Given the description of an element on the screen output the (x, y) to click on. 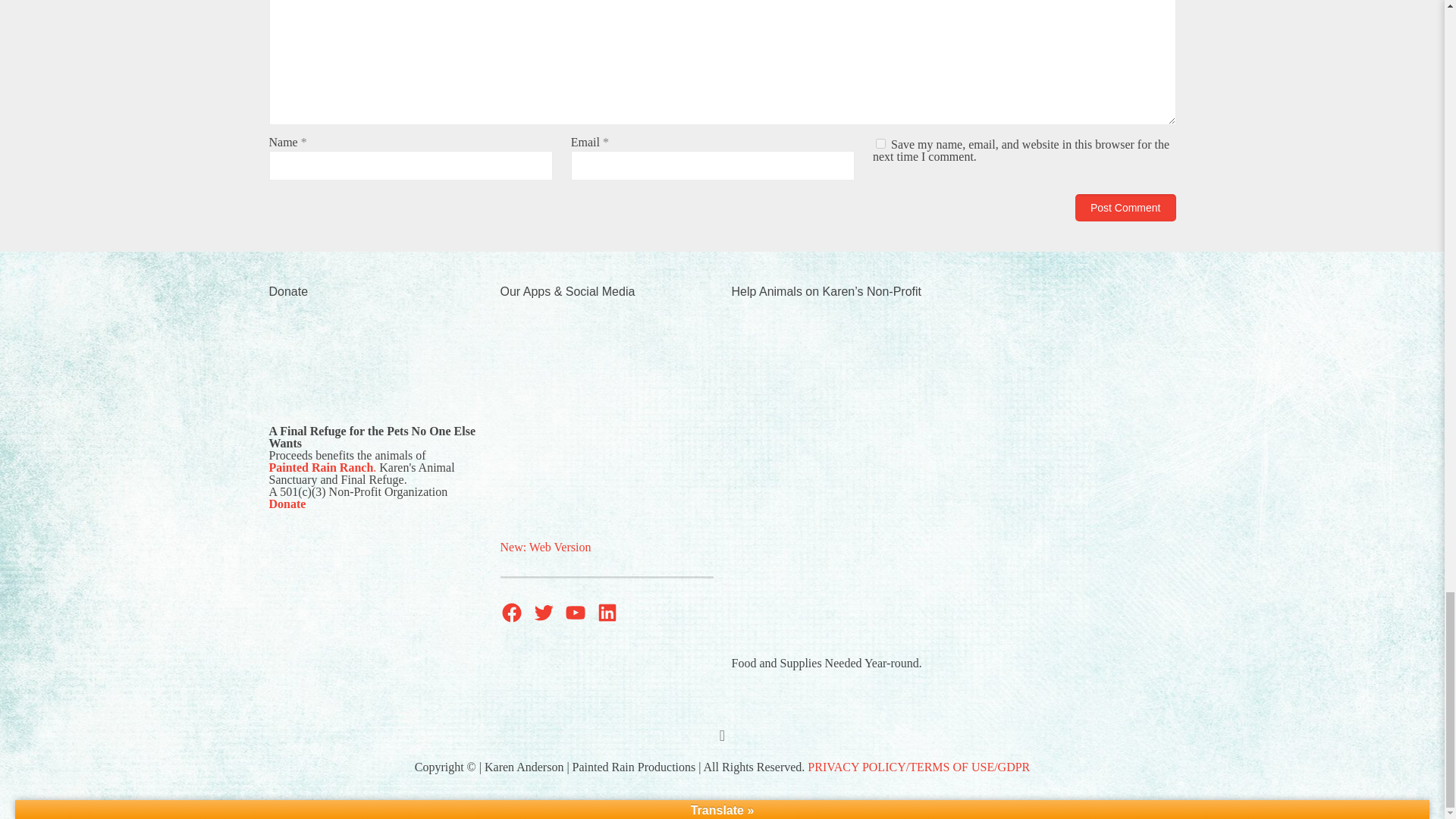
Post Comment (1125, 207)
yes (880, 143)
